Given the description of an element on the screen output the (x, y) to click on. 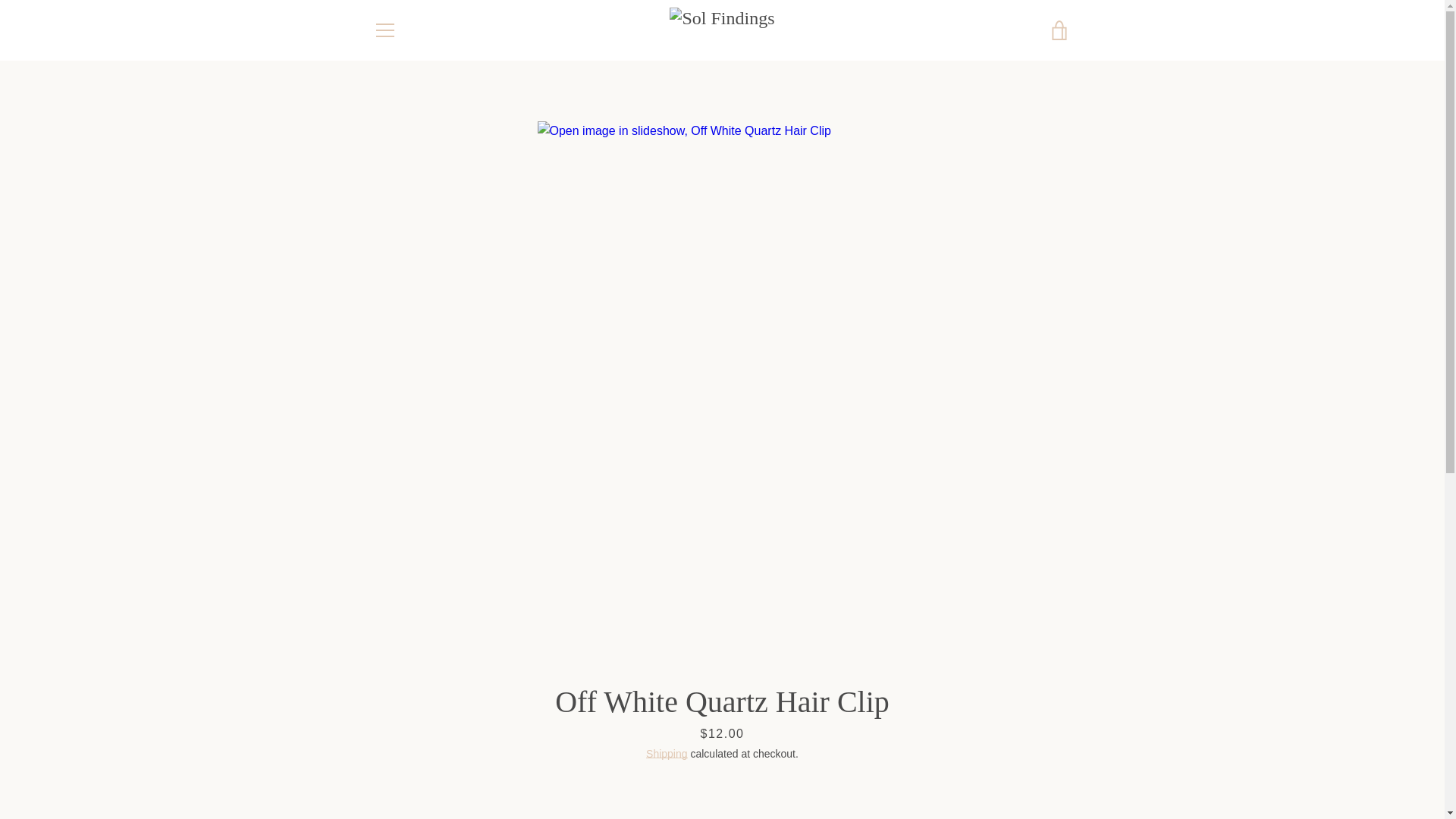
MENU (384, 30)
Shipping (666, 753)
VIEW CART (1059, 30)
